Given the description of an element on the screen output the (x, y) to click on. 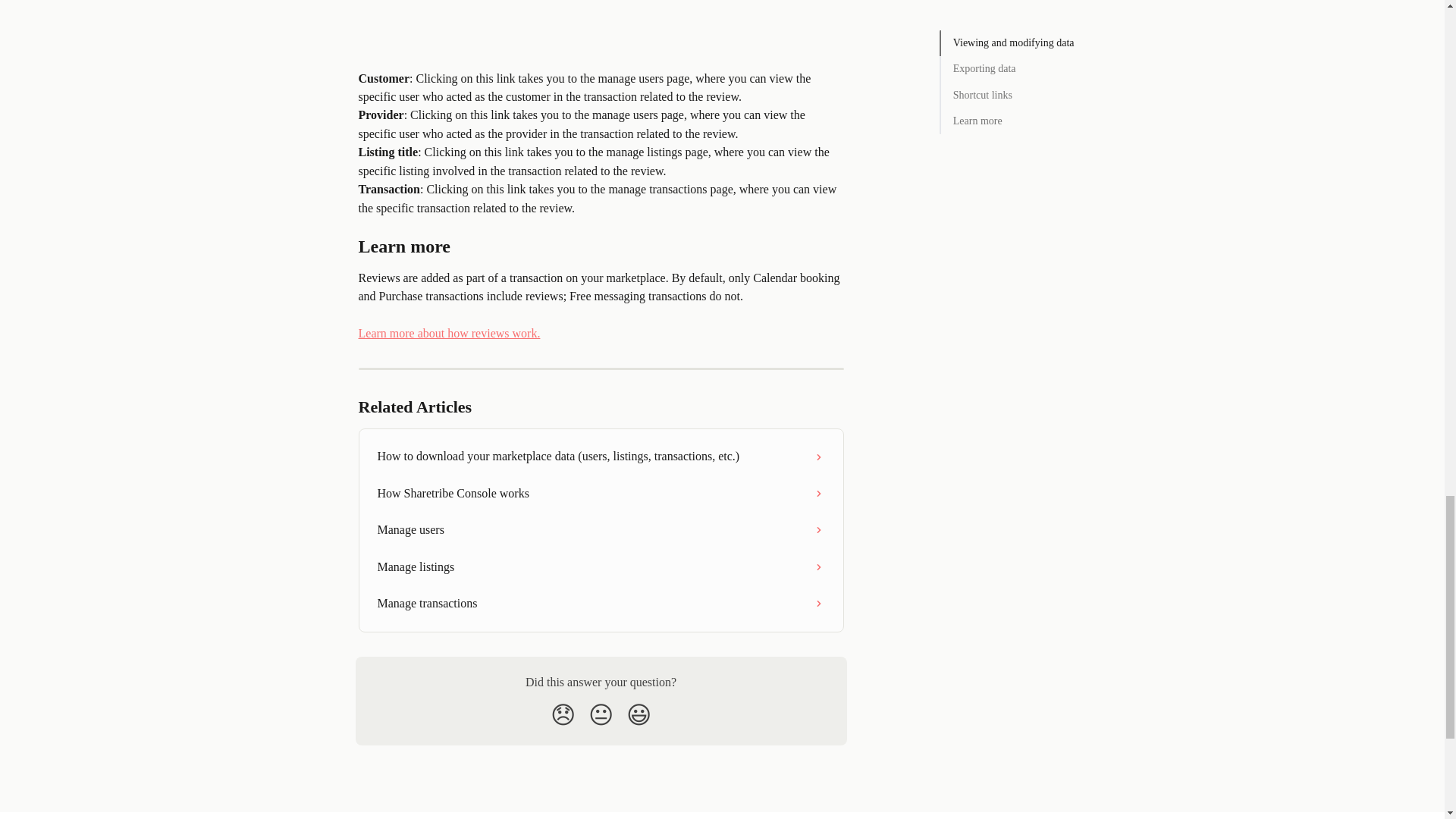
Disappointed (562, 714)
How Sharetribe Console works (601, 493)
Neutral (600, 714)
Manage users (601, 529)
Learn more about how reviews work. (449, 332)
Manage transactions (601, 603)
Manage listings (601, 566)
Smiley (638, 714)
